Given the description of an element on the screen output the (x, y) to click on. 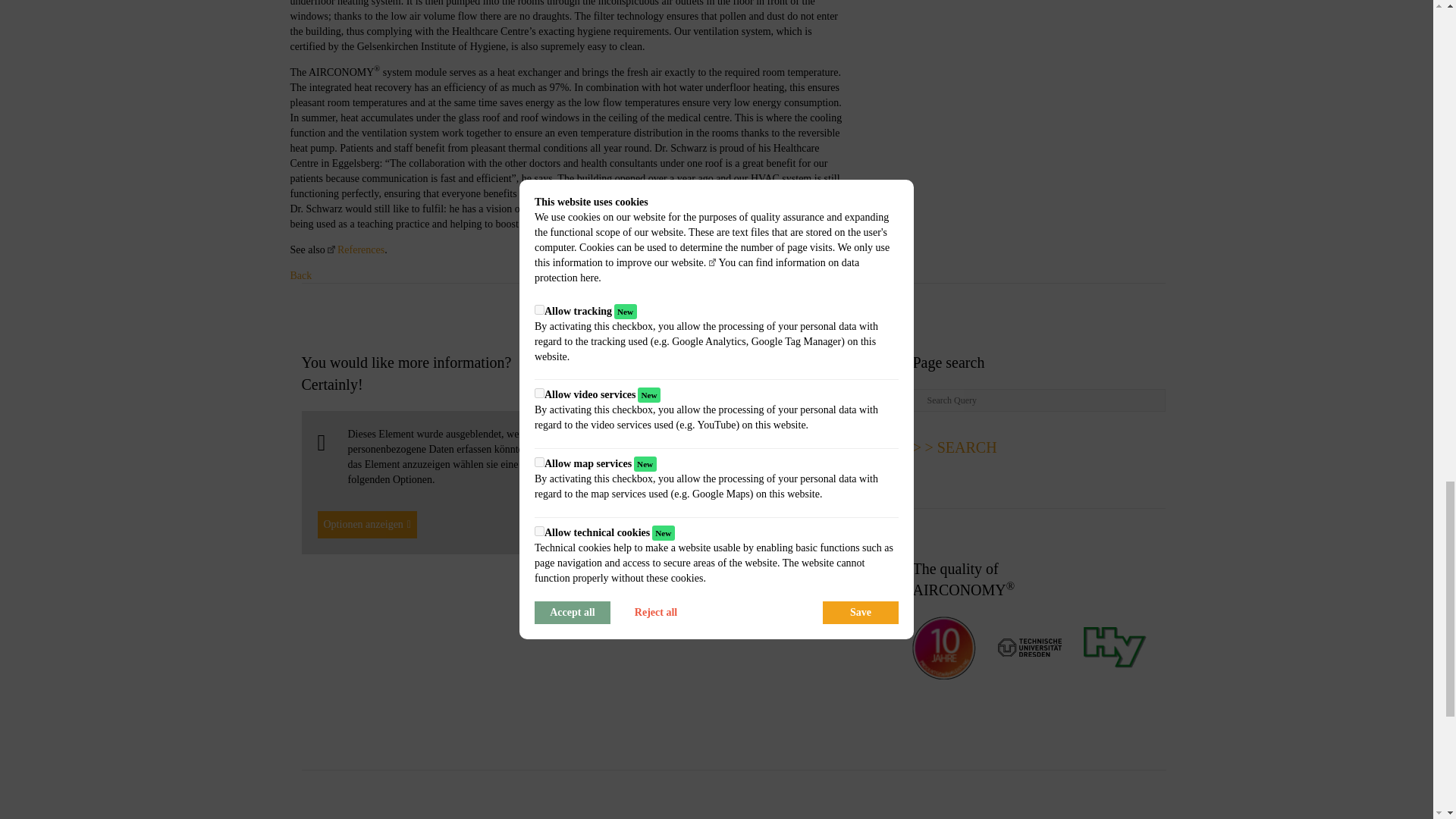
Search Query (1039, 400)
